Given the description of an element on the screen output the (x, y) to click on. 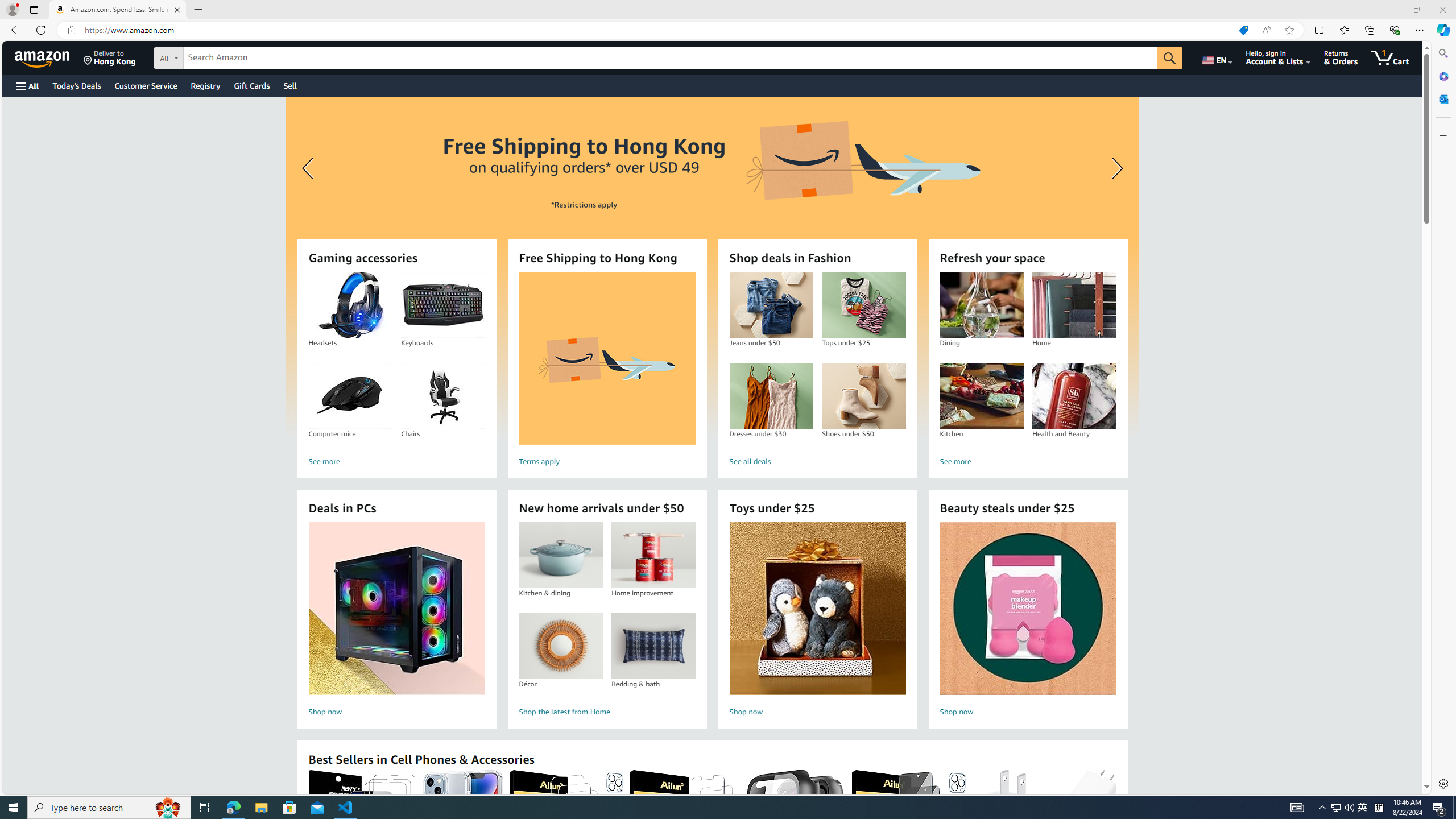
Dresses under $30 (770, 395)
Toys under $25 Shop now (817, 620)
Restore (1416, 9)
Kitchen (981, 395)
Problems (Ctrl+Shift+M) (199, 539)
Customer Service (145, 85)
Find in Selection (Alt+L) (1348, 60)
Go Forward (Alt+RightArrow) (560, 9)
Toys under $25 (818, 608)
Search Amazon (670, 57)
Amazon.com. Spend less. Smile more. (117, 9)
Show desktop (1454, 807)
UTF-8 (1310, 789)
Dining (981, 304)
Customize (1442, 135)
